Given the description of an element on the screen output the (x, y) to click on. 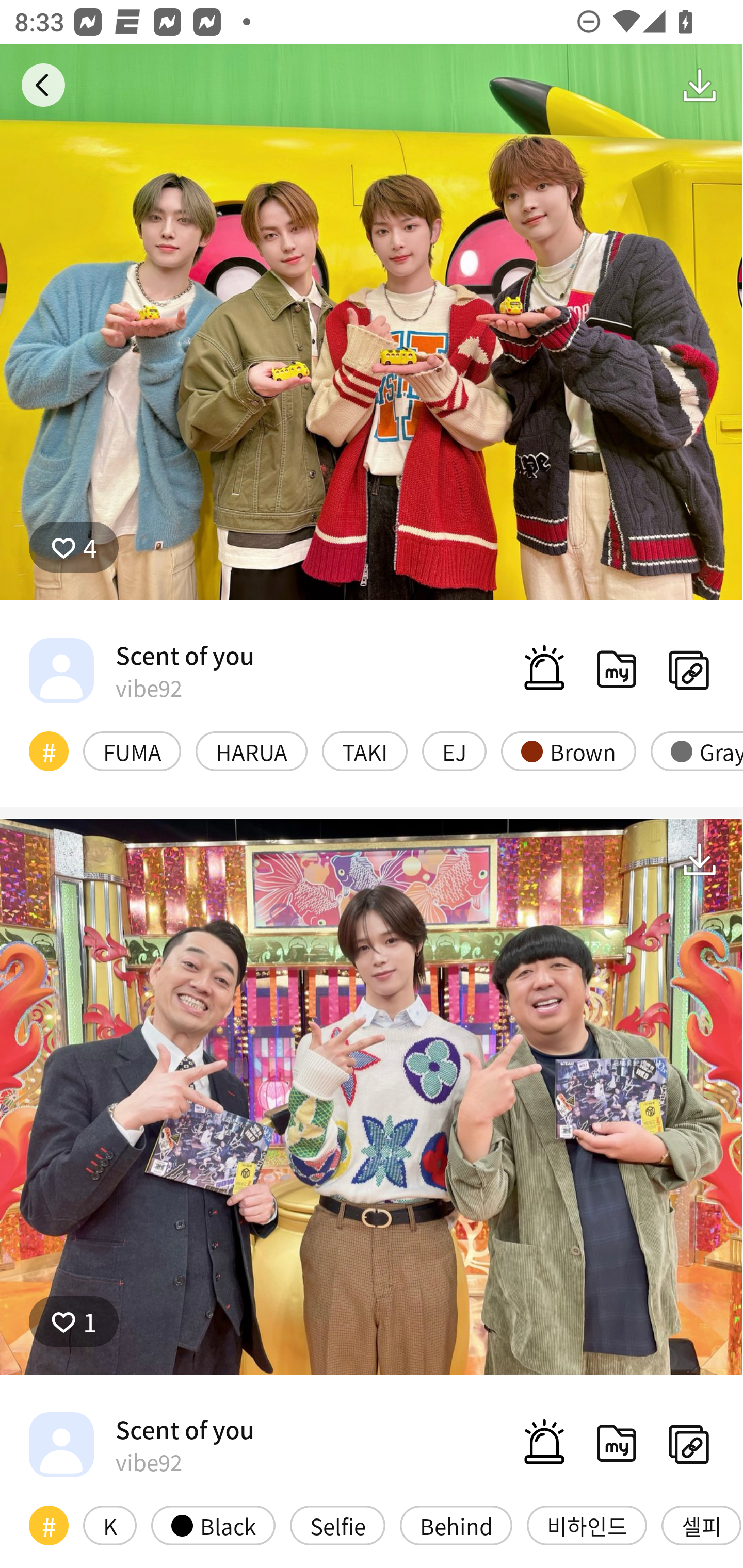
4 (371, 321)
4 (73, 546)
Scent of you vibe92 (141, 670)
FUMA (132, 750)
HARUA (251, 750)
TAKI (364, 750)
EJ (454, 750)
Brown (568, 750)
Gray (696, 750)
1 (371, 1095)
1 (73, 1320)
Scent of you vibe92 (141, 1444)
K (109, 1525)
Black (212, 1525)
Selfie (337, 1525)
Behind (455, 1525)
비하인드 (586, 1525)
셀피 (701, 1525)
